Given the description of an element on the screen output the (x, y) to click on. 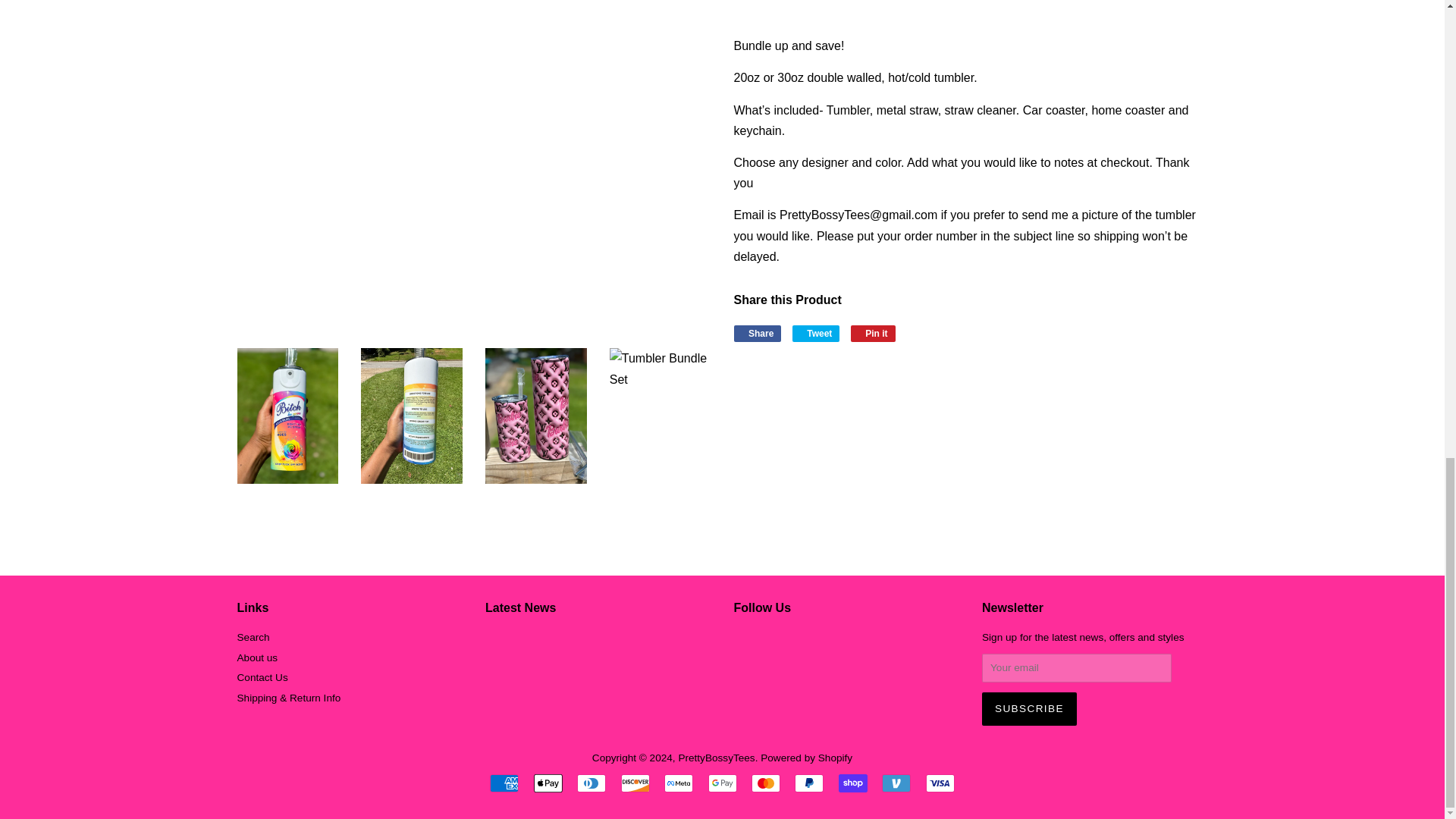
Visa (940, 782)
American Express (503, 782)
Apple Pay (548, 782)
Subscribe (1029, 708)
Discover (635, 782)
Venmo (896, 782)
Tweet on Twitter (816, 333)
Meta Pay (678, 782)
Shop Pay (852, 782)
Diners Club (590, 782)
